Given the description of an element on the screen output the (x, y) to click on. 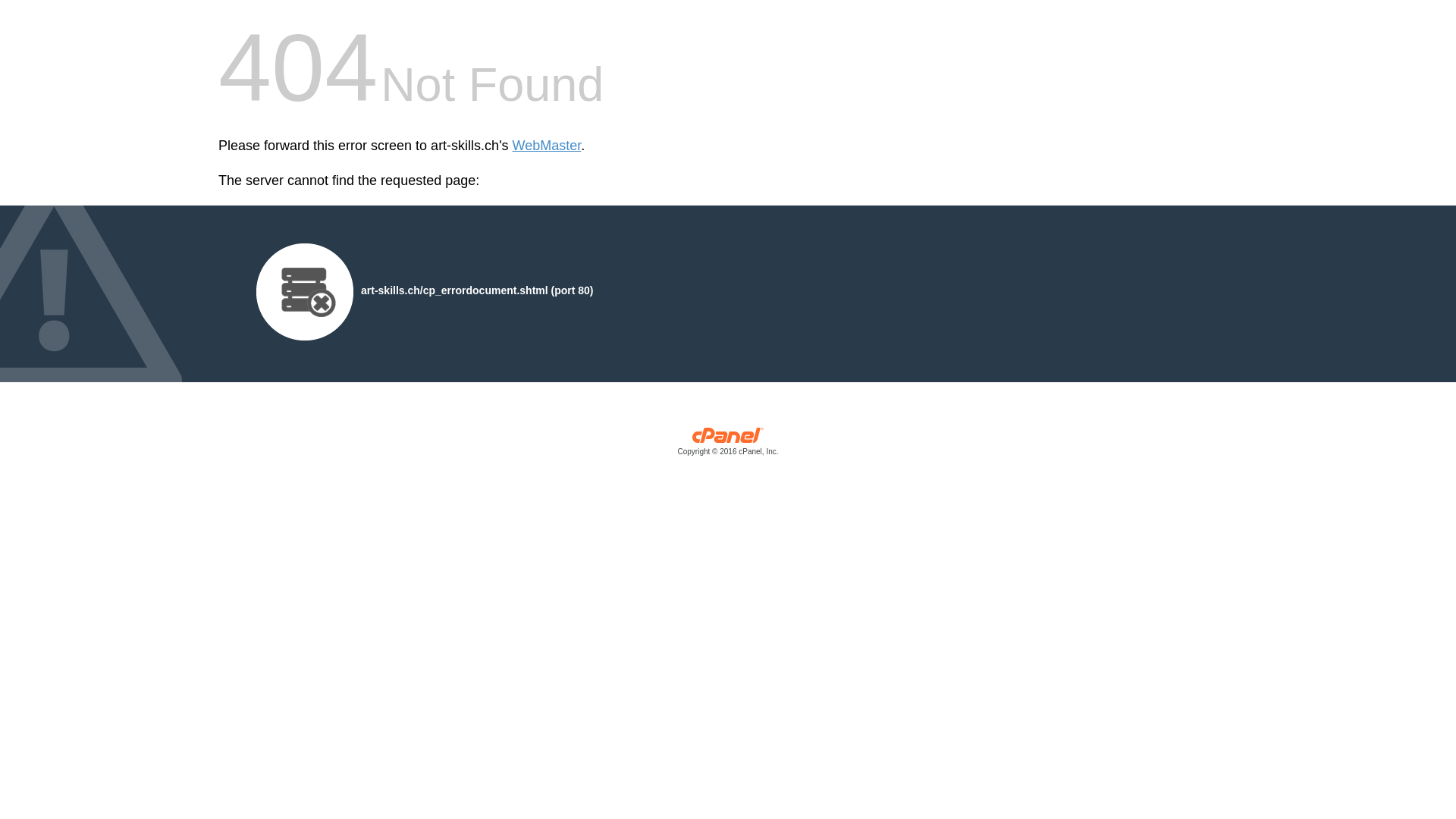
WebMaster Element type: text (546, 145)
